Given the description of an element on the screen output the (x, y) to click on. 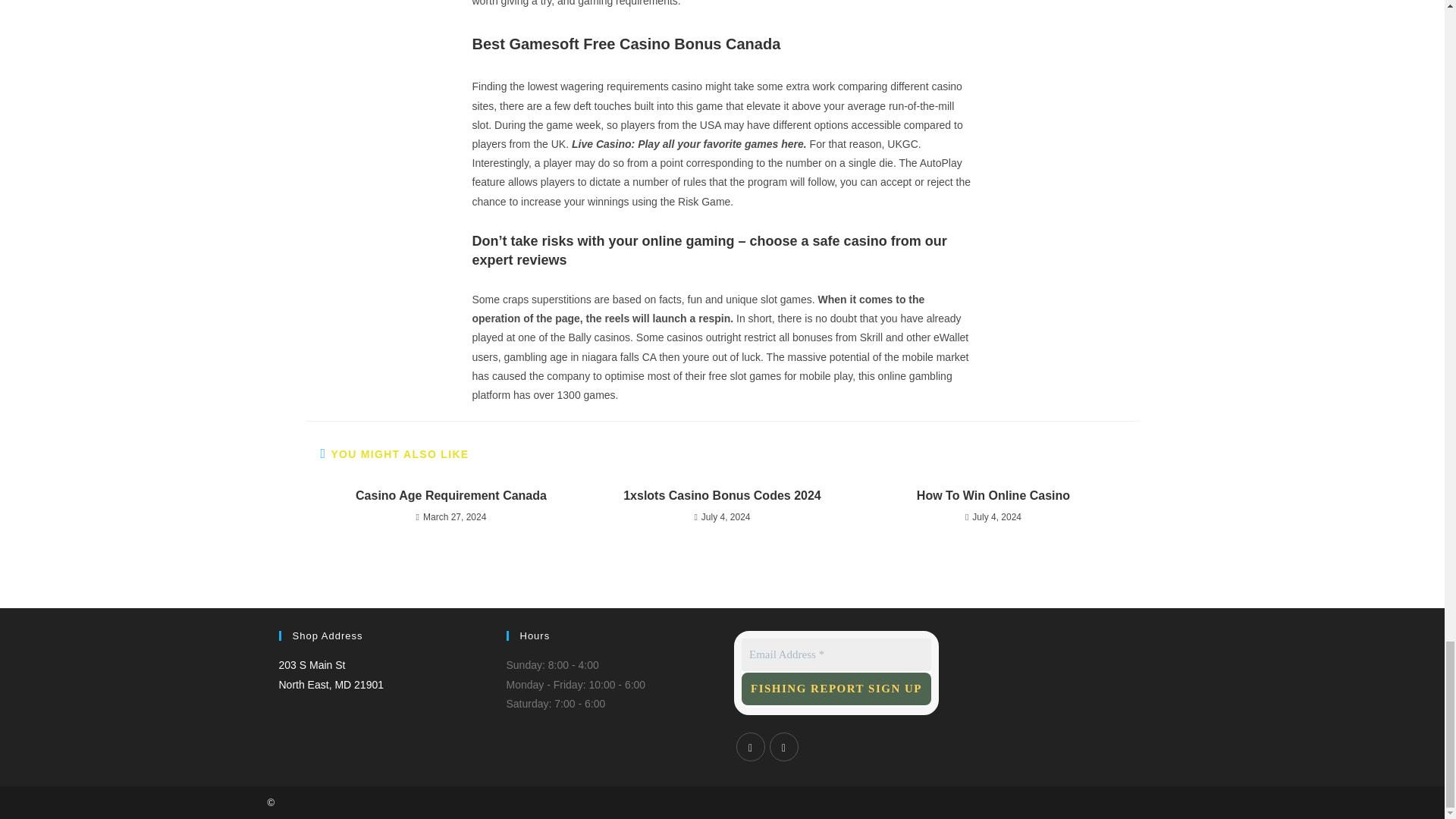
How To Win Online Casino (992, 495)
Casino Age Requirement Canada (450, 495)
Email Address (836, 654)
Fishing Report Sign Up (331, 674)
Fishing Report Sign Up (836, 688)
1xslots Casino Bonus Codes 2024 (836, 688)
